Given the description of an element on the screen output the (x, y) to click on. 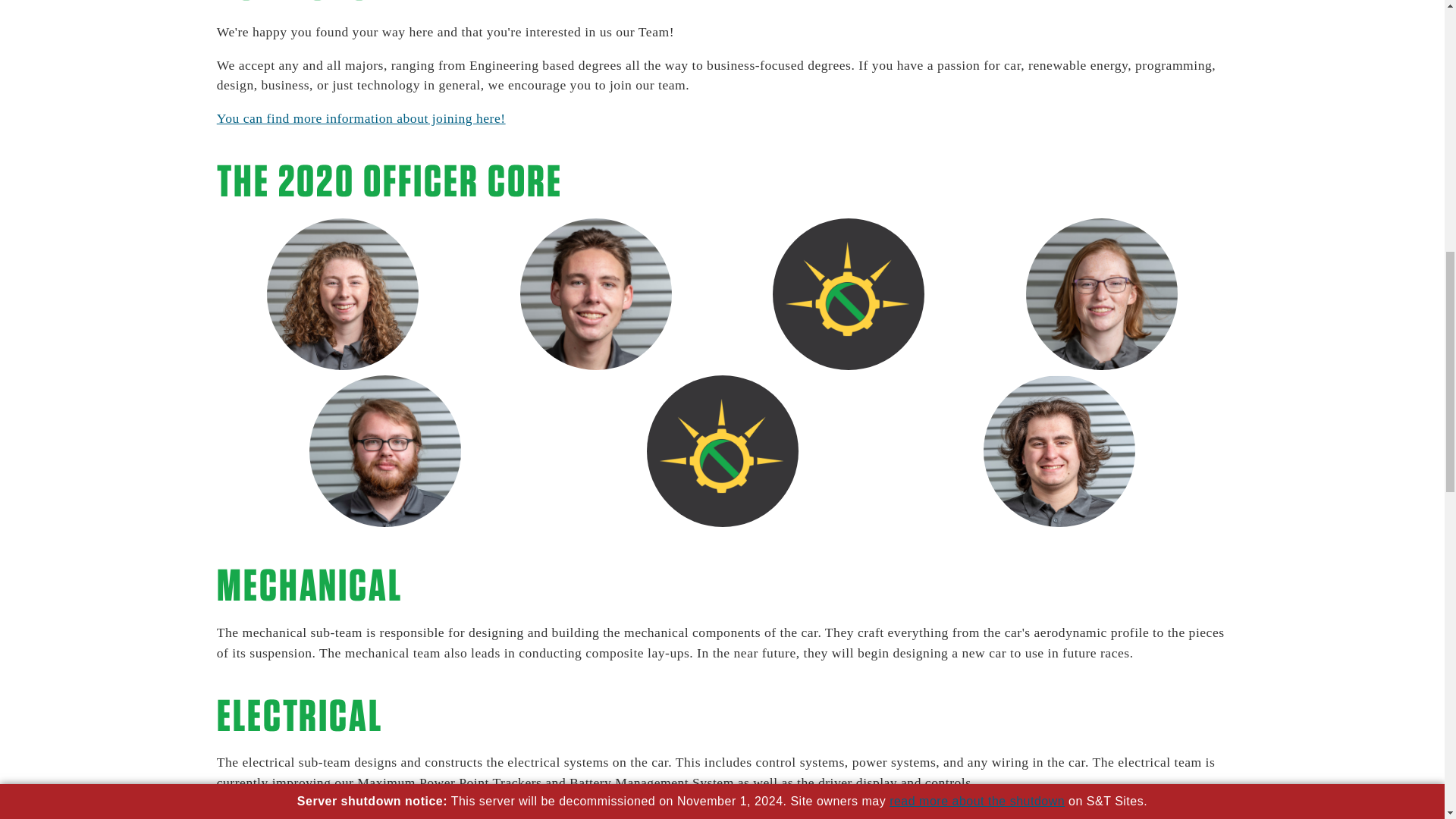
You can find more information about joining here! (360, 118)
